Given the description of an element on the screen output the (x, y) to click on. 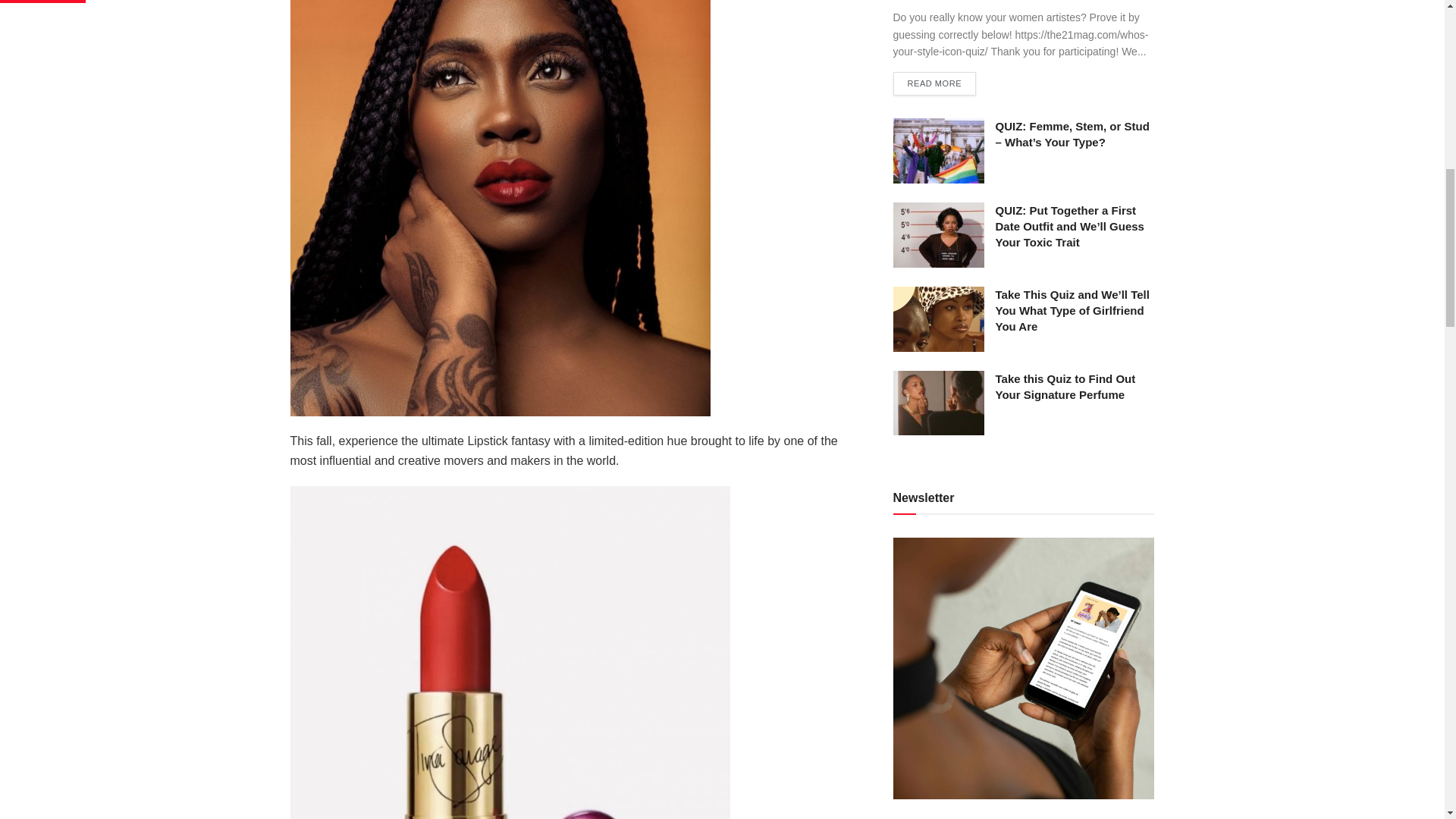
Newsletter (1023, 668)
